Given the description of an element on the screen output the (x, y) to click on. 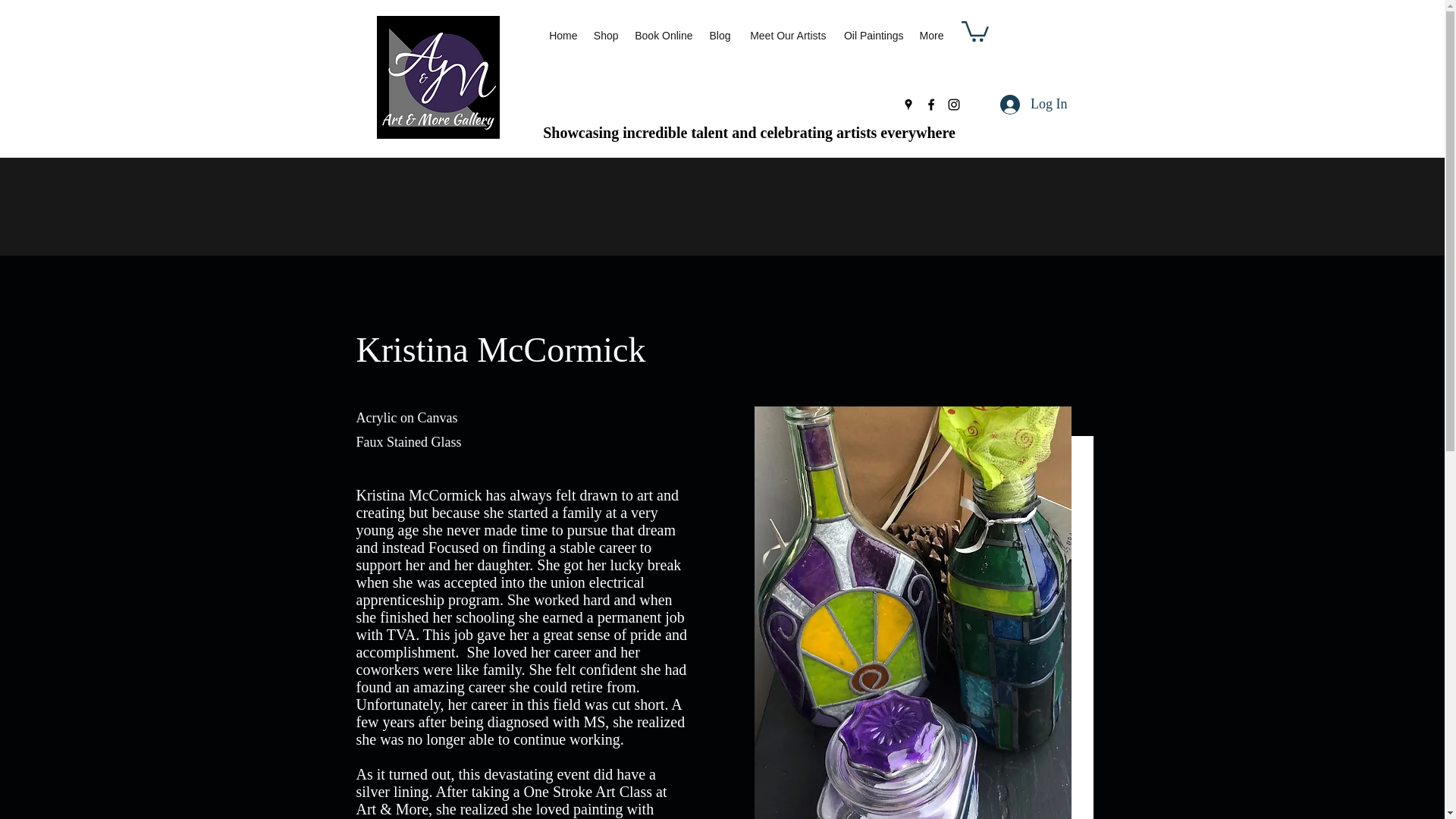
Blog (719, 35)
Shop (605, 35)
Home (562, 35)
Oil Paintings (872, 35)
Book Online (663, 35)
Meet Our Artists (786, 35)
